Given the description of an element on the screen output the (x, y) to click on. 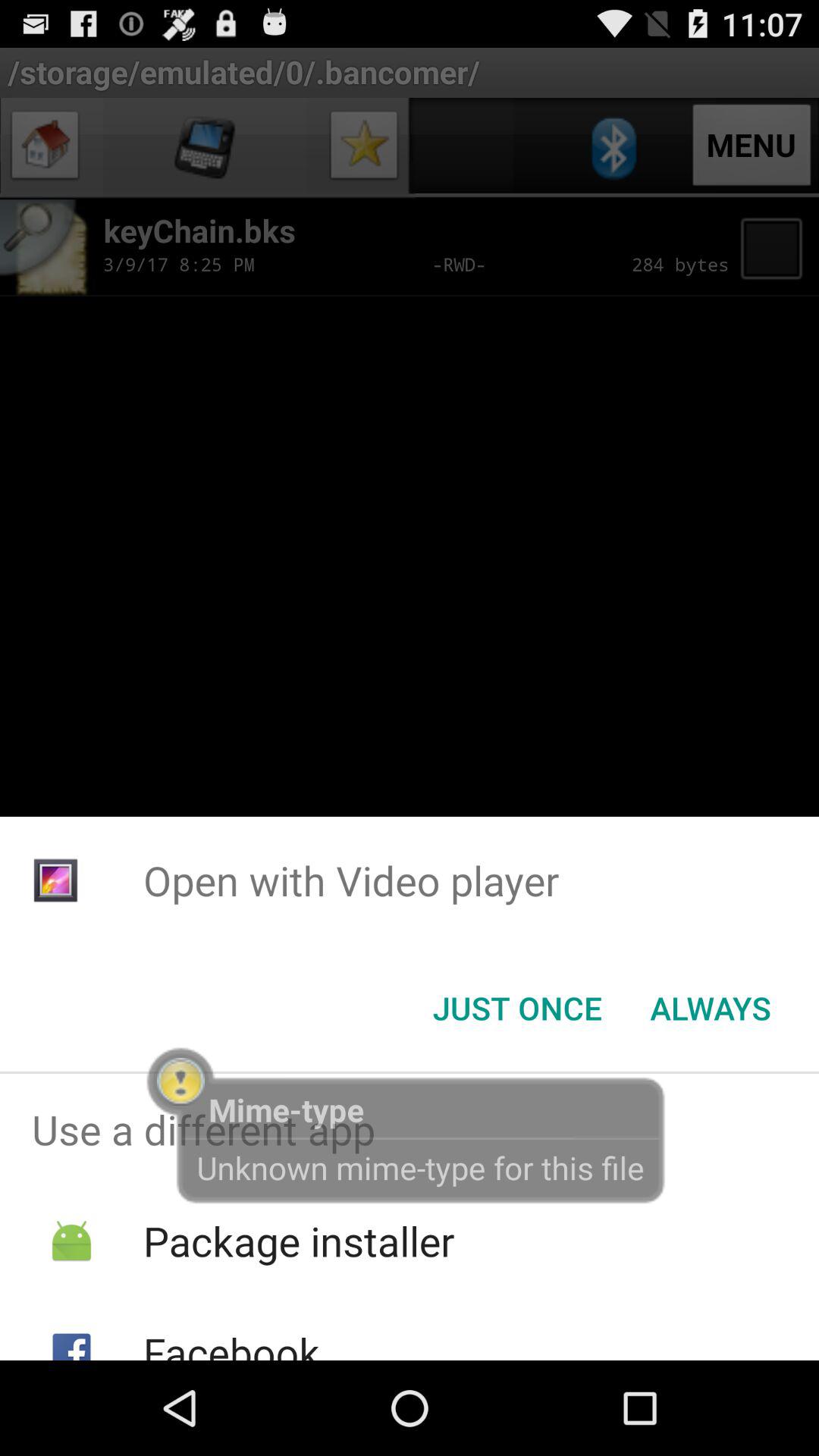
open the just once icon (517, 1007)
